Given the description of an element on the screen output the (x, y) to click on. 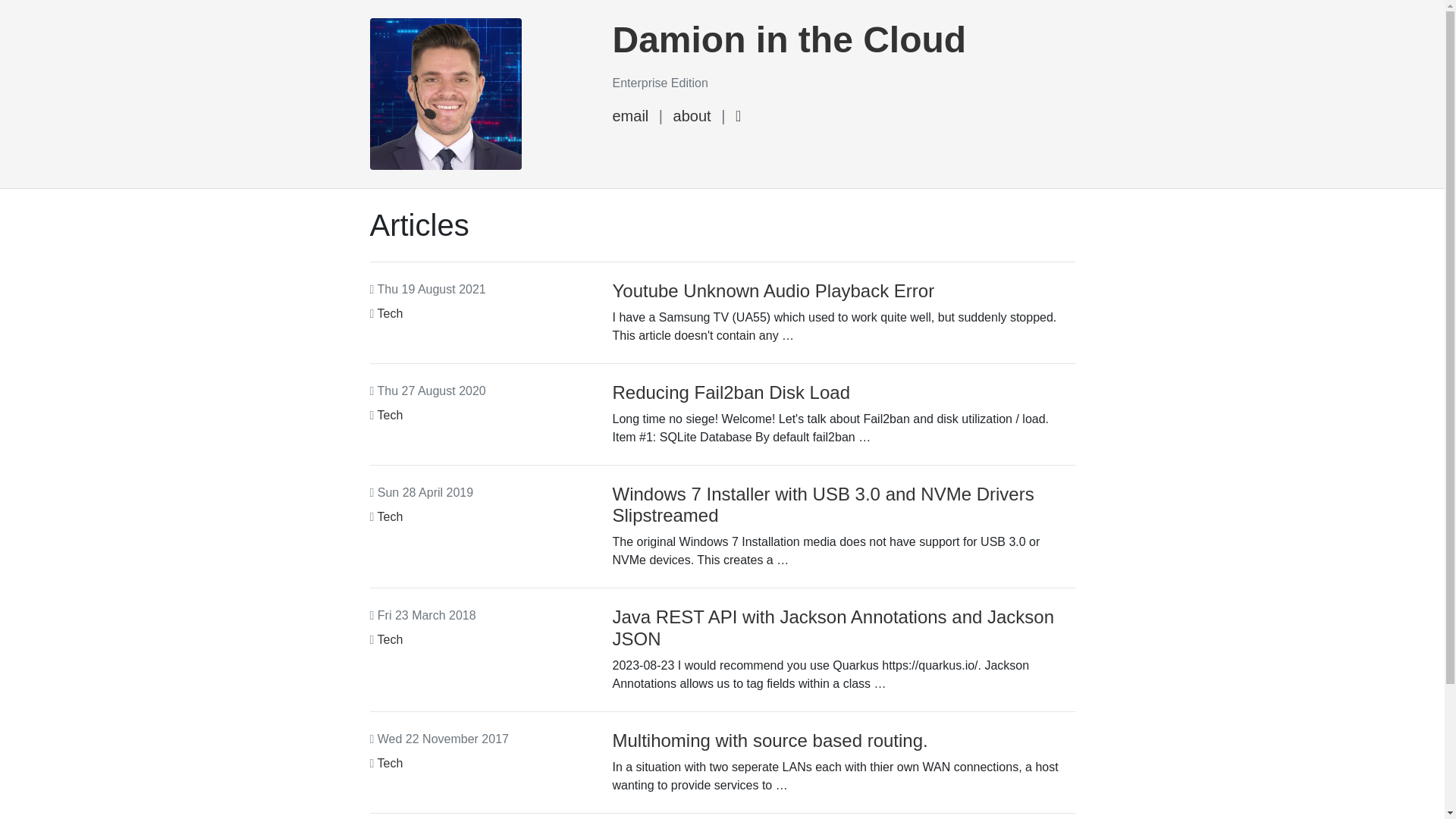
Reducing Fail2ban Disk Load Element type: text (730, 392)
Damion in the Cloud Element type: text (788, 39)
Tech Element type: text (390, 762)
email Element type: text (629, 115)
Multihoming with source based routing. Element type: text (769, 740)
about Element type: text (692, 115)
Tech Element type: text (390, 516)
Youtube Unknown Audio Playback Error Element type: text (772, 290)
Tech Element type: text (390, 414)
Java REST API with Jackson Annotations and Jackson JSON Element type: text (832, 627)
Tech Element type: text (390, 313)
Tech Element type: text (390, 639)
